Given the description of an element on the screen output the (x, y) to click on. 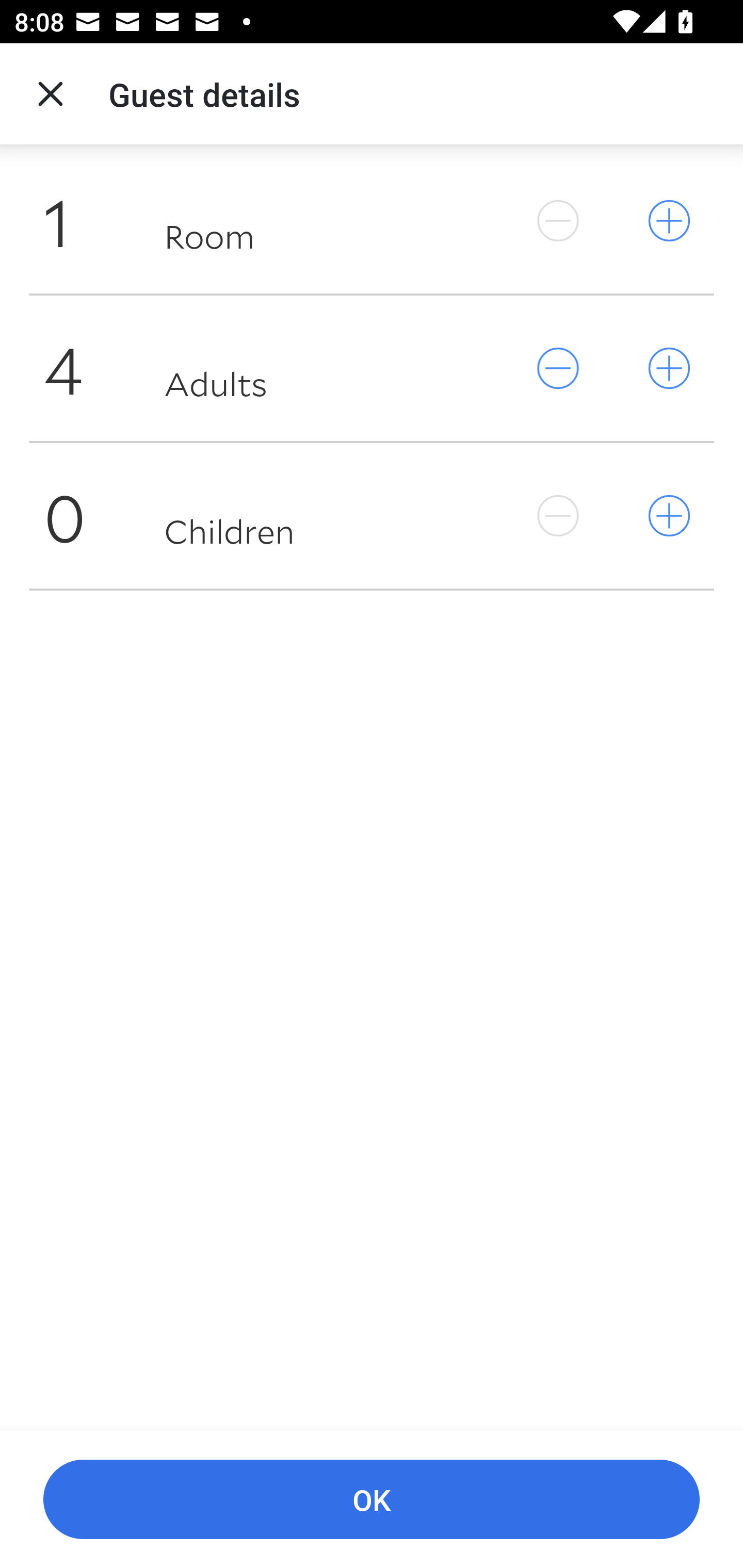
OK (371, 1499)
